Given the description of an element on the screen output the (x, y) to click on. 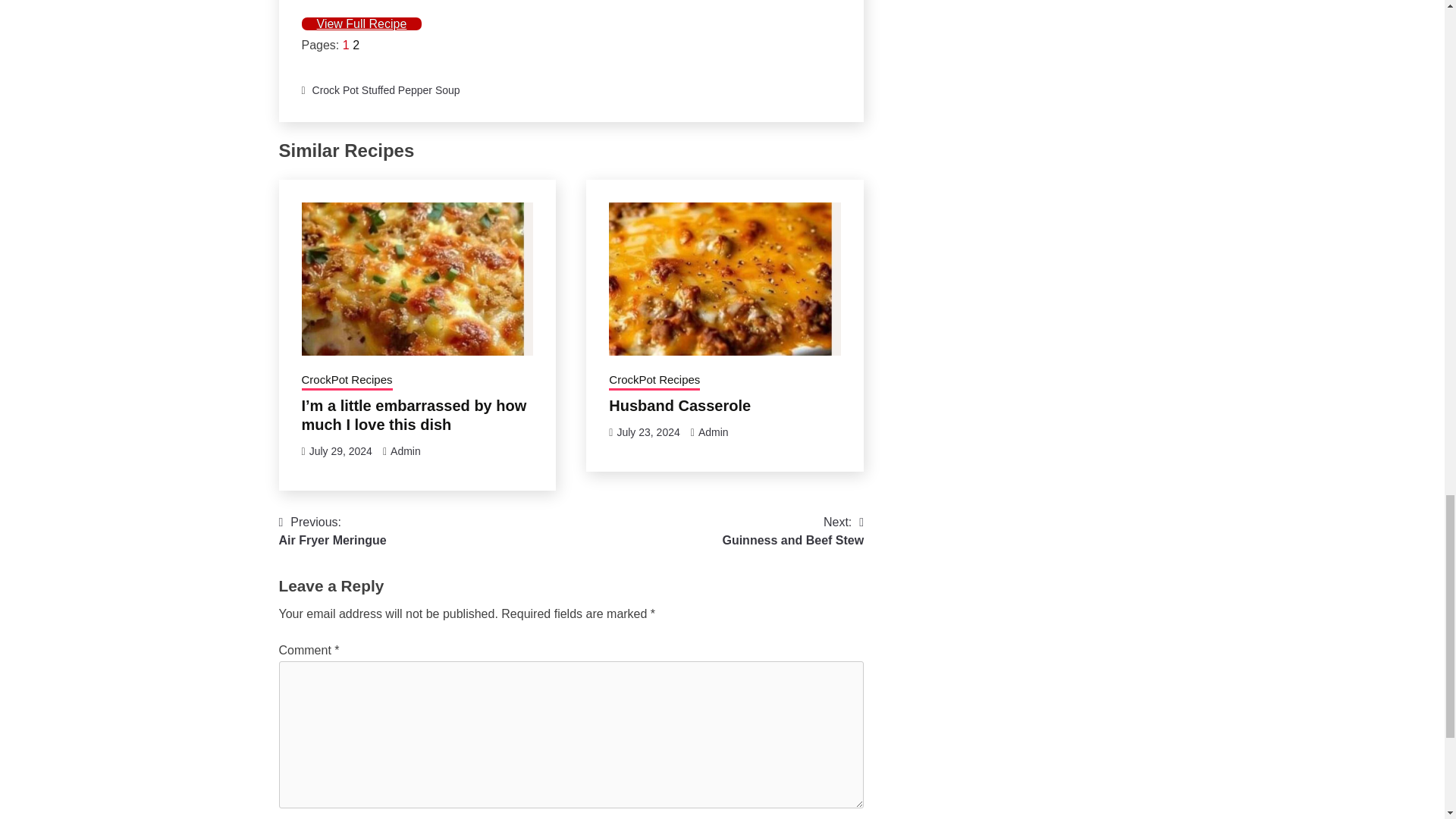
View Full Recipe (361, 23)
Admin (713, 431)
July 29, 2024 (340, 451)
July 23, 2024 (647, 431)
Admin (405, 451)
Crock Pot Stuffed Pepper Soup (386, 90)
CrockPot Recipes (347, 381)
CrockPot Recipes (654, 381)
Husband Casserole (679, 405)
